Given the description of an element on the screen output the (x, y) to click on. 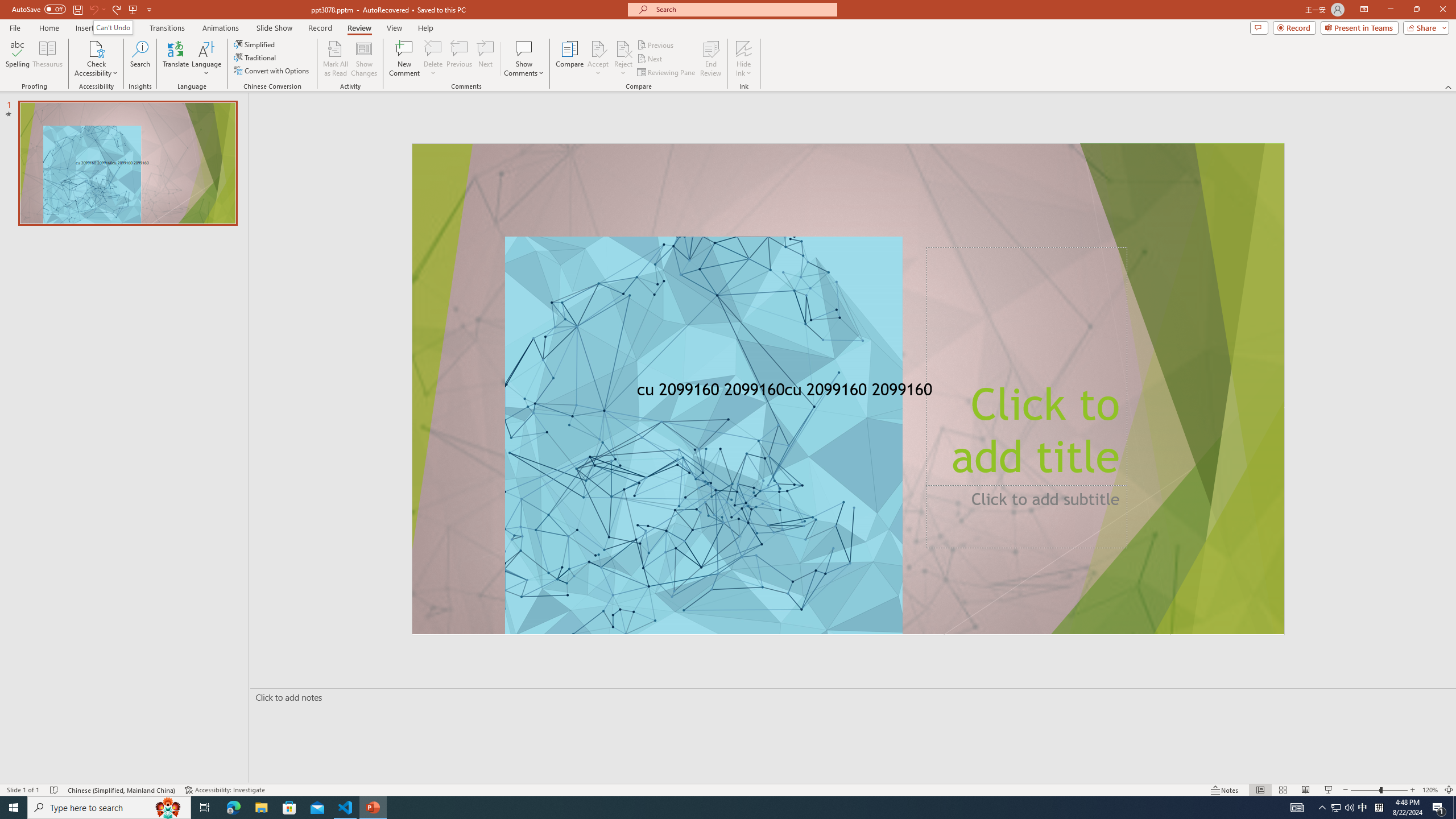
Can't Undo (112, 27)
